Given the description of an element on the screen output the (x, y) to click on. 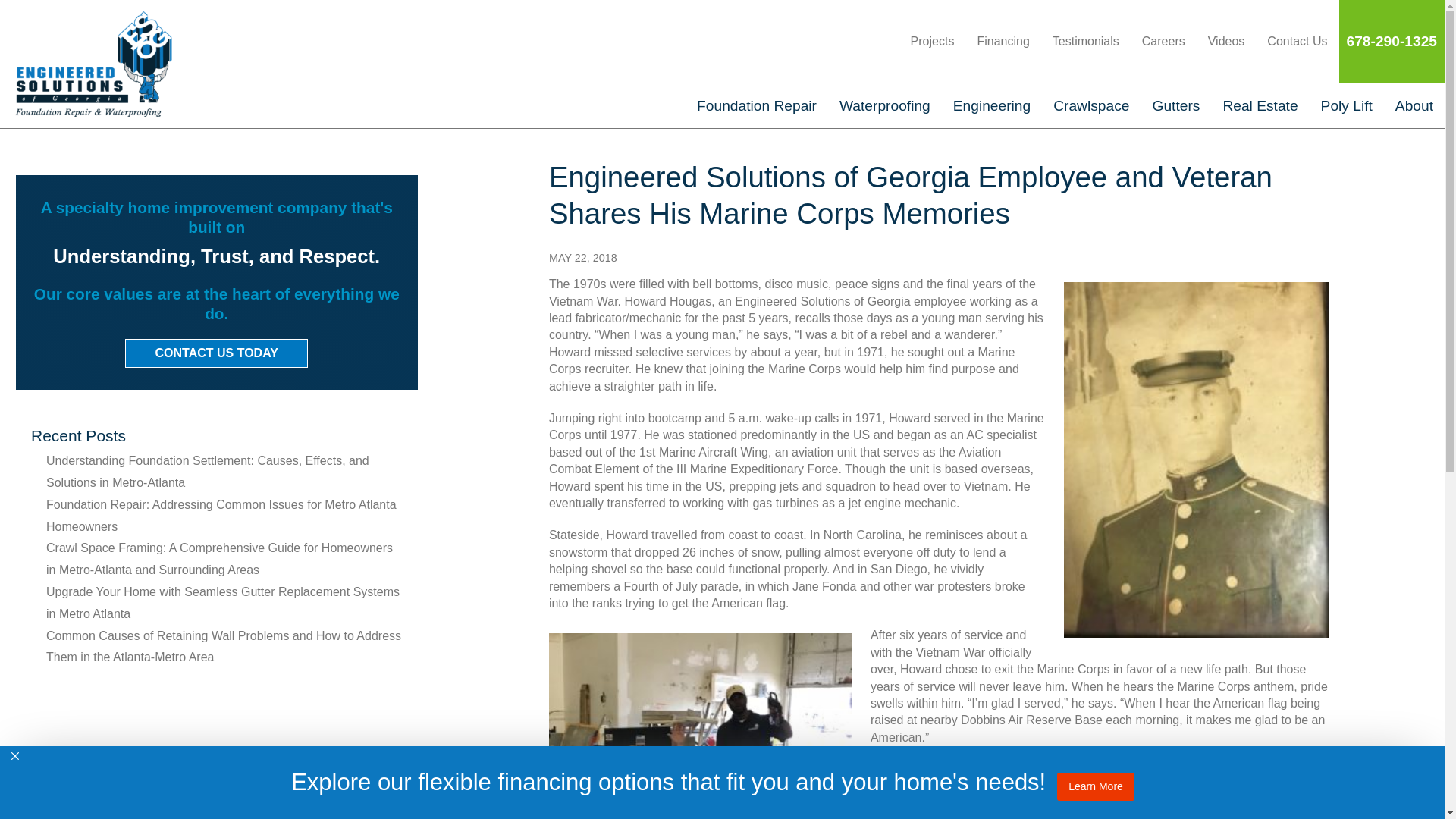
Engineered Solutions of Georgia (128, 64)
Videos (1226, 41)
Financing (1003, 41)
Crawlspace (1091, 104)
Projects (932, 41)
Testimonials (1086, 41)
Foundation Repair (756, 104)
Engineering (992, 104)
Contact Us (1296, 41)
Waterproofing (885, 104)
Careers (1163, 41)
